Given the description of an element on the screen output the (x, y) to click on. 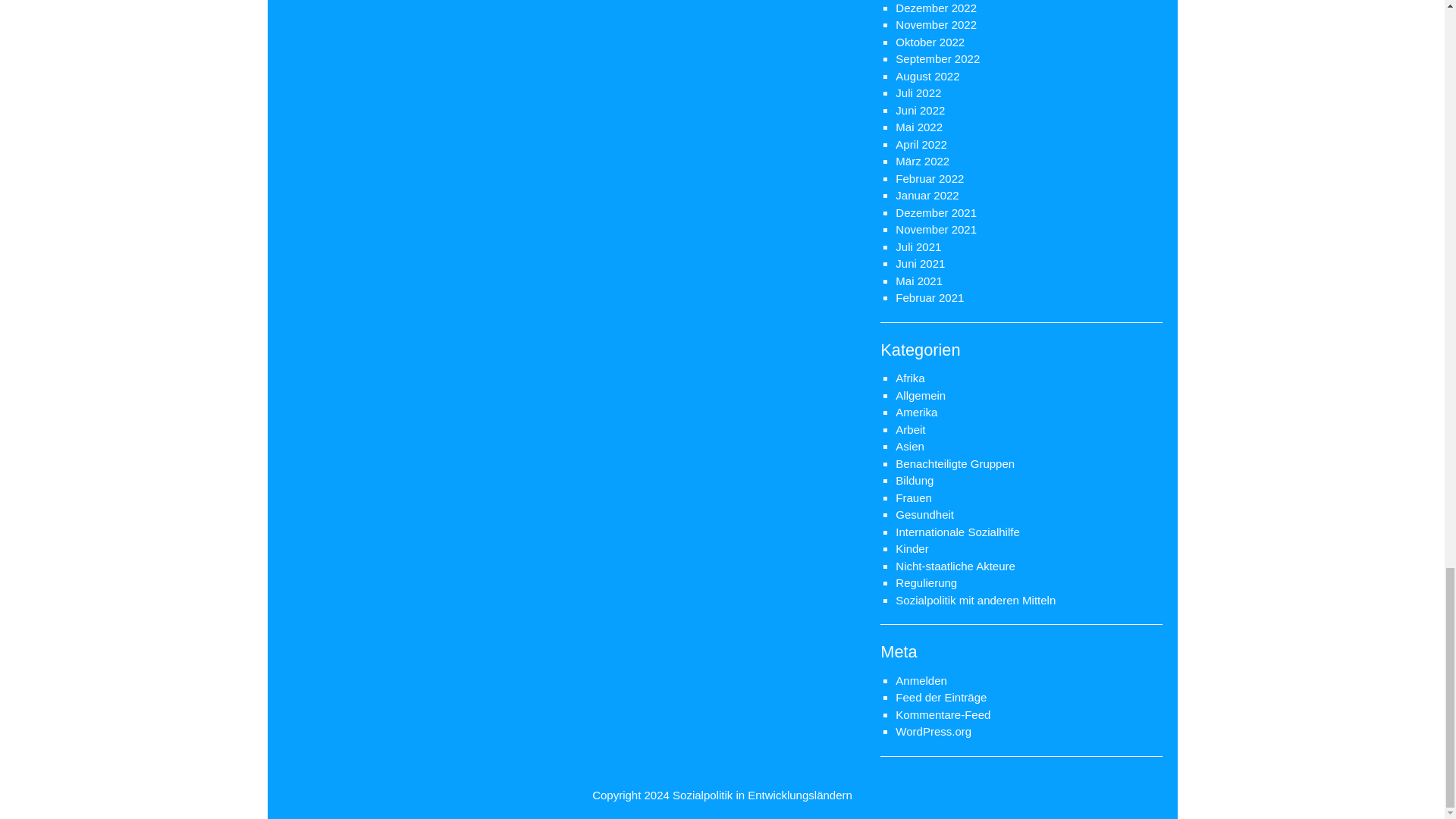
Dezember 2022 (935, 7)
